Given the description of an element on the screen output the (x, y) to click on. 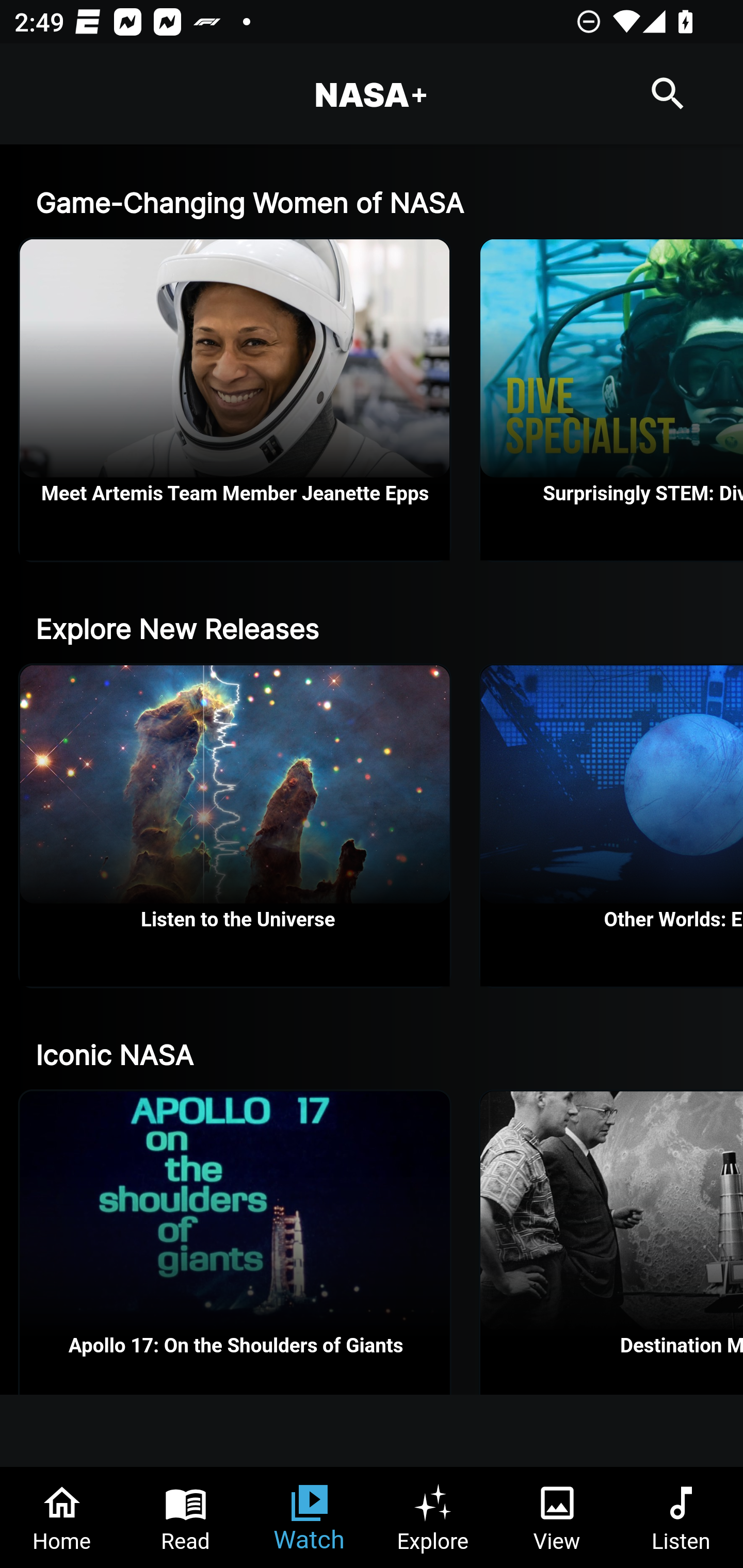
Meet Artemis Team Member Jeanette Epps (235, 400)
Surprisingly STEM: Dive Specialist (611, 400)
Listen to the Universe (235, 825)
Other Worlds: Europa (611, 825)
Apollo 17: On the Shoulders of Giants (235, 1242)
Destination Moon (611, 1242)
Home
Tab 1 of 6 (62, 1517)
Read
Tab 2 of 6 (185, 1517)
Watch
Tab 3 of 6 (309, 1517)
Explore
Tab 4 of 6 (433, 1517)
View
Tab 5 of 6 (556, 1517)
Listen
Tab 6 of 6 (680, 1517)
